Given the description of an element on the screen output the (x, y) to click on. 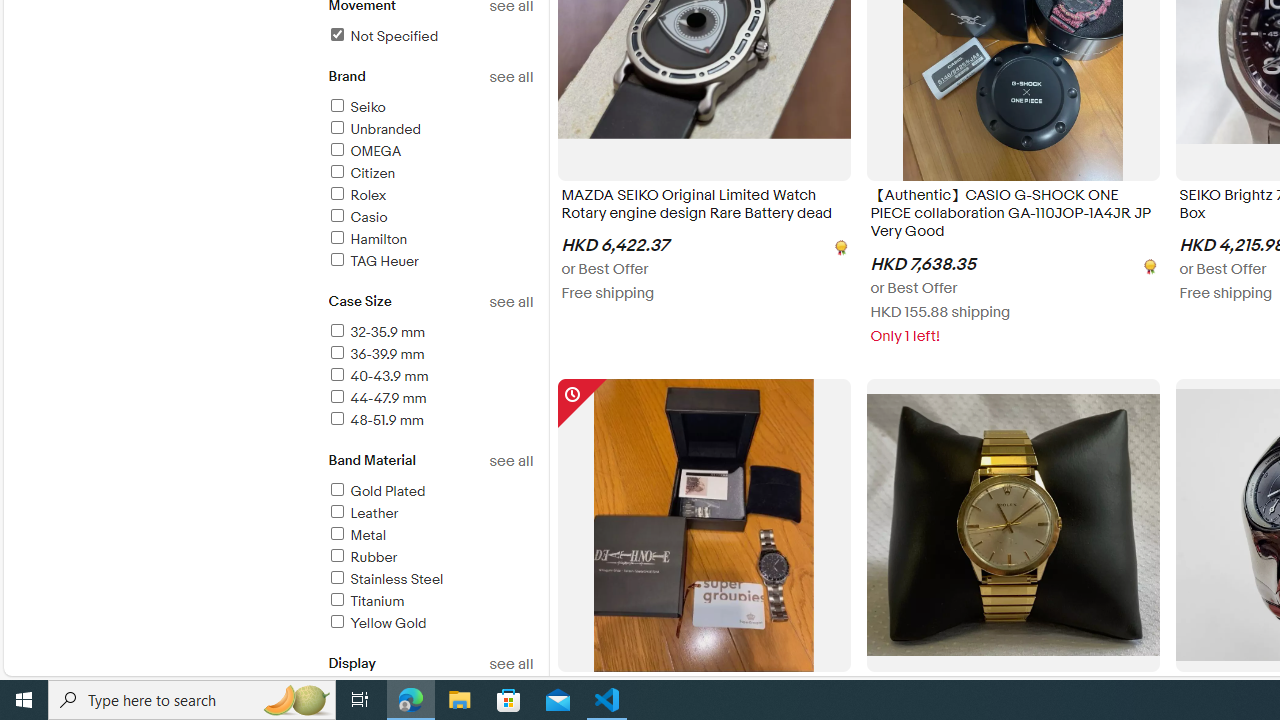
Seiko (430, 108)
Gold Plated (430, 492)
Not SpecifiedFilter Applied (430, 37)
40-43.9 mm (377, 376)
Unbranded (374, 129)
44-47.9 mm (376, 398)
